Given the description of an element on the screen output the (x, y) to click on. 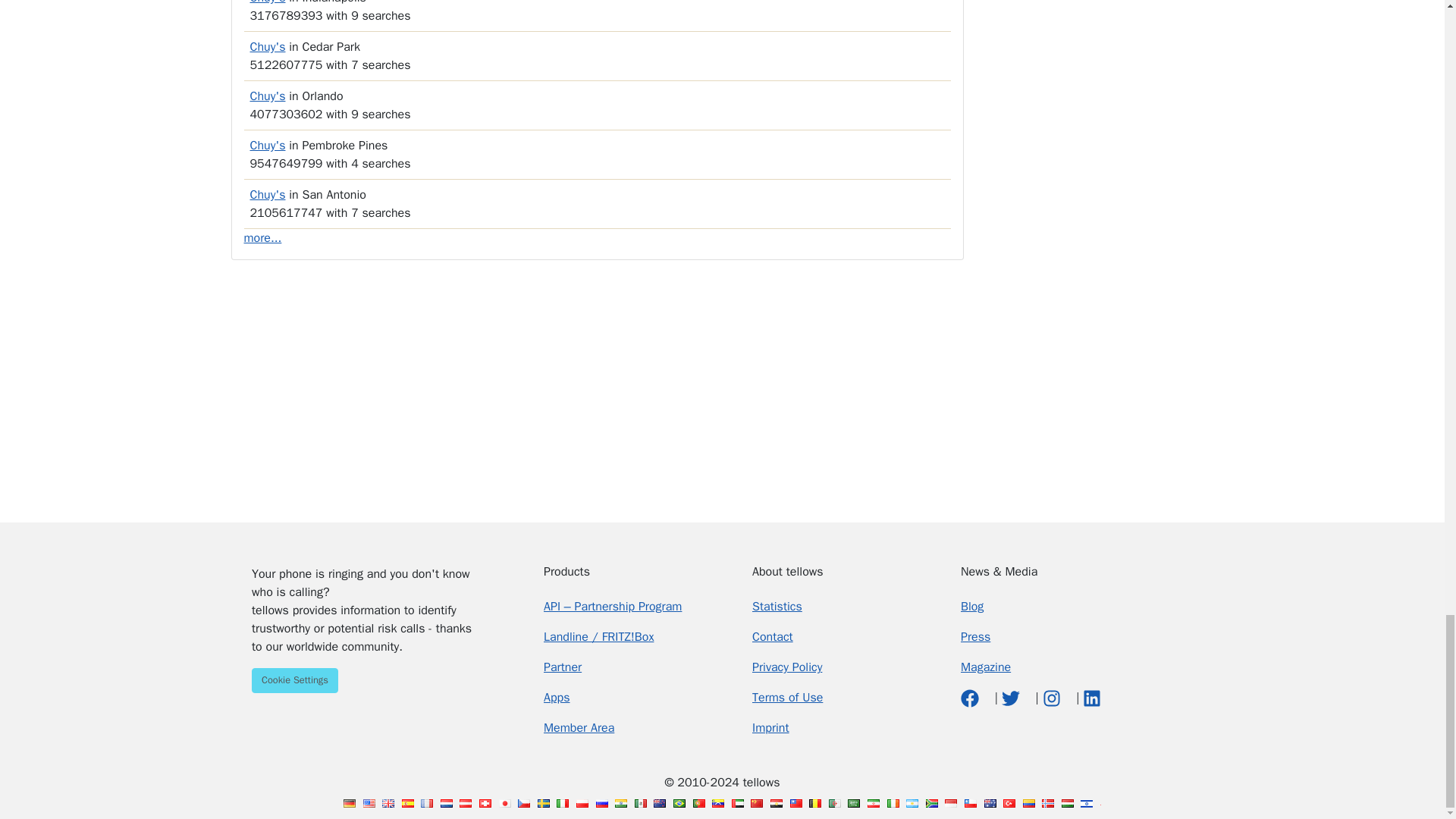
Blog (972, 606)
tellows Great Britain (387, 803)
Presse (975, 636)
tellows France (426, 803)
Instagram (1053, 697)
tellows Netherlands (446, 803)
tellows Austria (465, 803)
tellows USA (368, 803)
tellows Germany (349, 803)
tellows Spain (407, 803)
Magazin (985, 667)
twitter (1012, 697)
LinkedIn (1091, 697)
Facebook (971, 697)
